Given the description of an element on the screen output the (x, y) to click on. 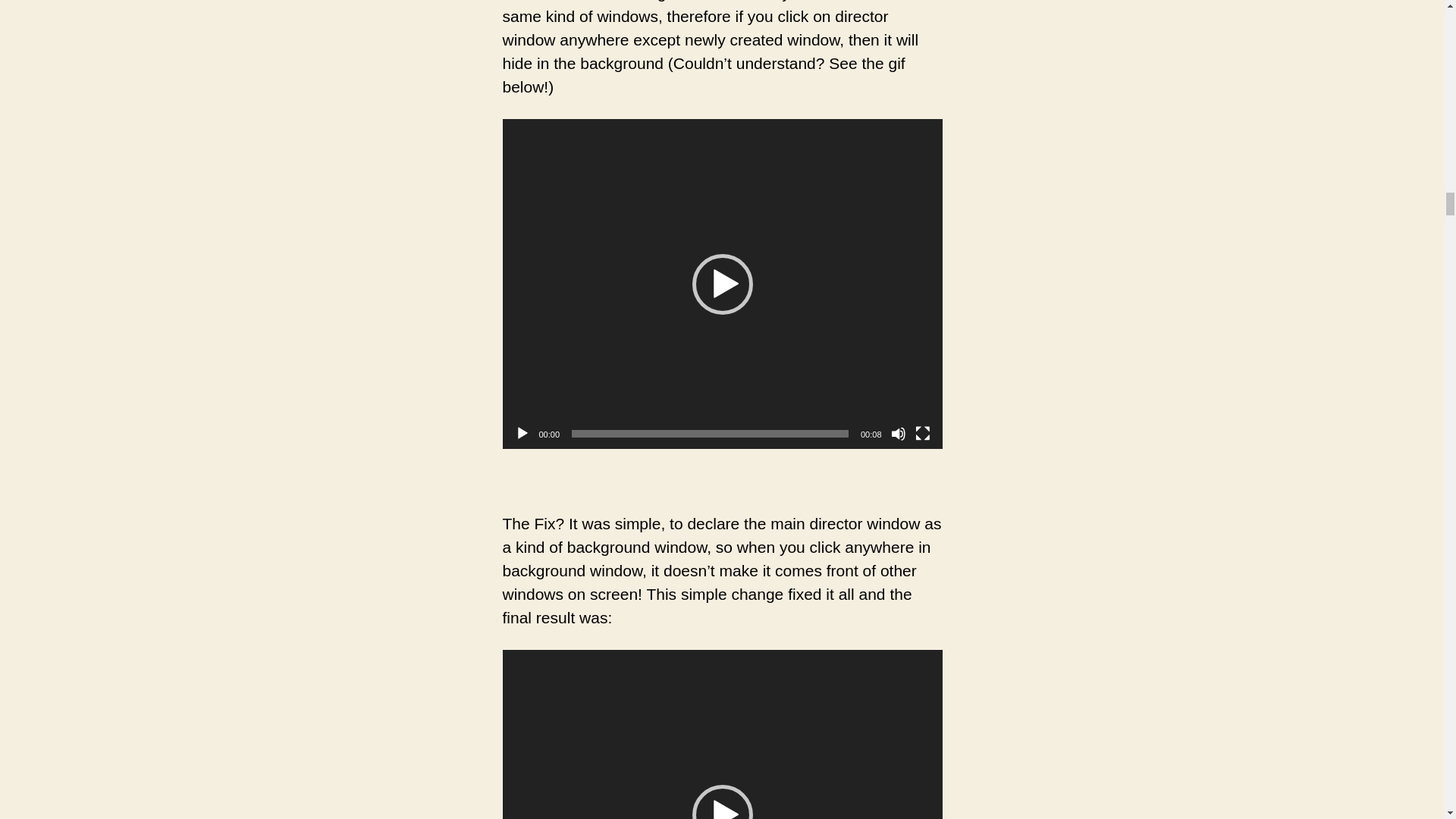
Mute (897, 433)
Play (521, 433)
Fullscreen (922, 433)
